Given the description of an element on the screen output the (x, y) to click on. 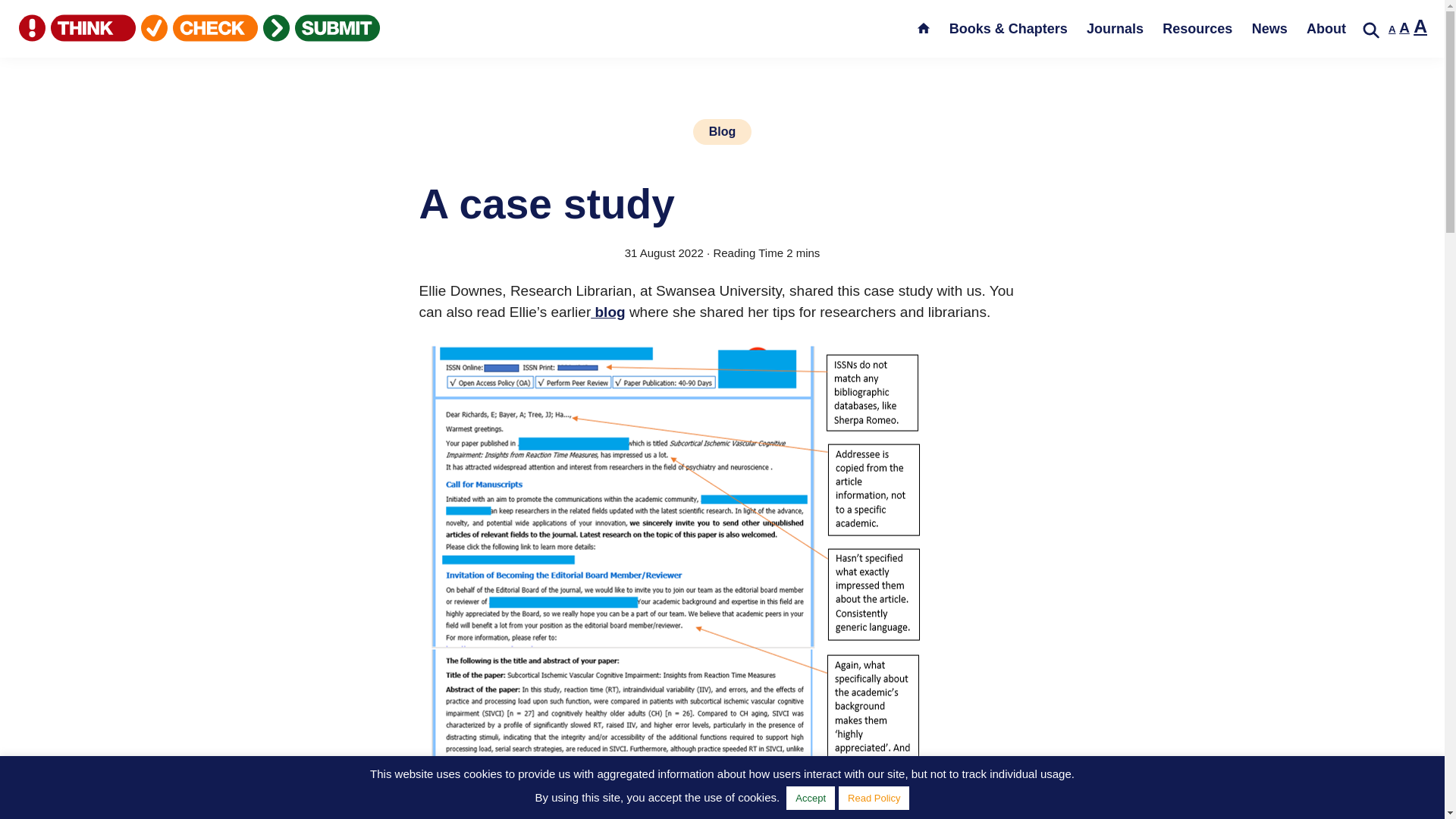
Journals (1114, 28)
blog (607, 311)
Resources (1197, 28)
About (1326, 28)
Skip to primary navigation (1392, 29)
Home (1269, 28)
Decrease font size (923, 33)
Accept (1392, 29)
Reset font size (810, 797)
Increase font size (1404, 27)
Blog (1419, 25)
